Given the description of an element on the screen output the (x, y) to click on. 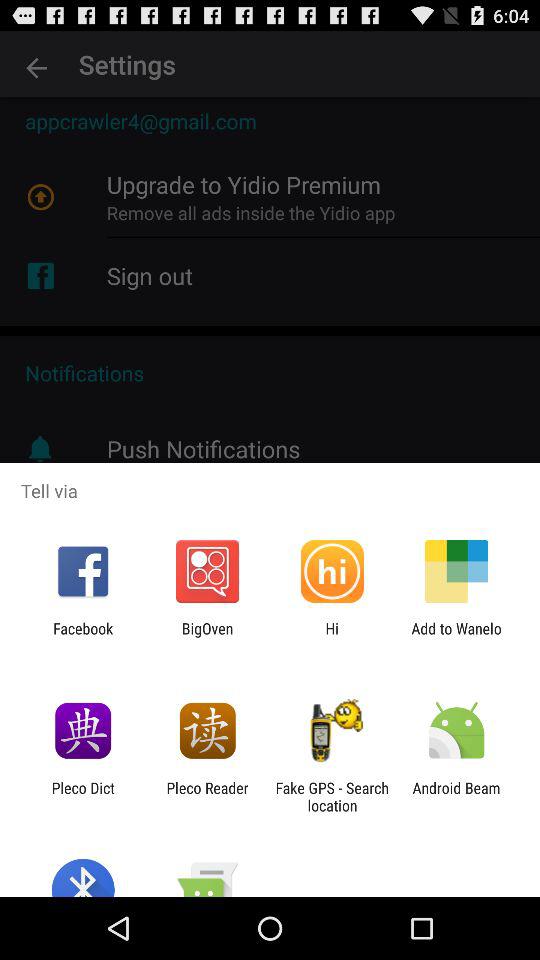
scroll until add to wanelo item (456, 637)
